Given the description of an element on the screen output the (x, y) to click on. 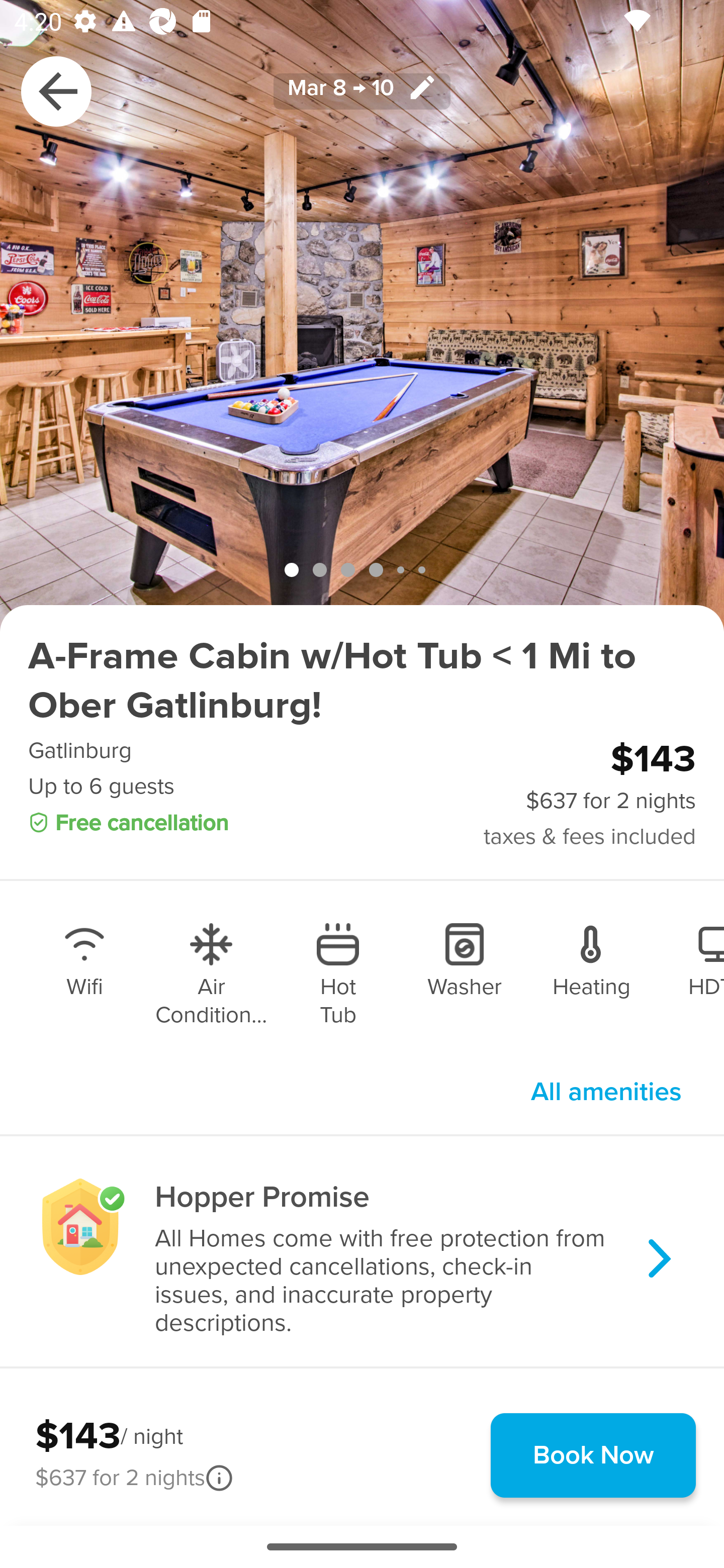
Mar 8 → 10 (361, 90)
A-Frame Cabin w/Hot Tub < 1 Mi to Ober Gatlinburg! (361, 681)
All amenities (606, 1091)
Book Now (592, 1454)
